Given the description of an element on the screen output the (x, y) to click on. 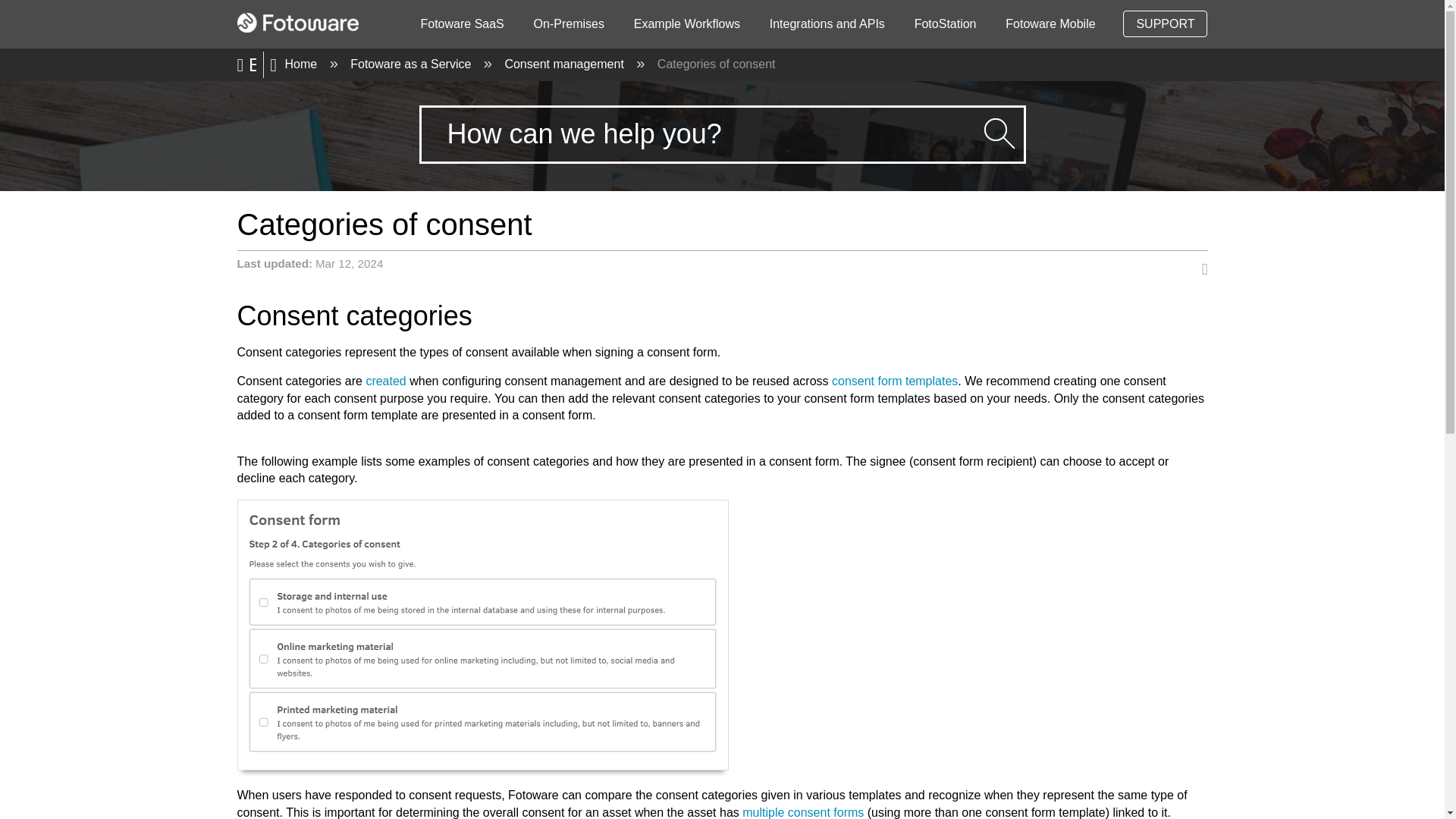
Integrations and APIs (827, 23)
Fotoware SaaS (462, 23)
On-Premises (568, 23)
Example Workflows (686, 23)
Share this page (1199, 270)
